Given the description of an element on the screen output the (x, y) to click on. 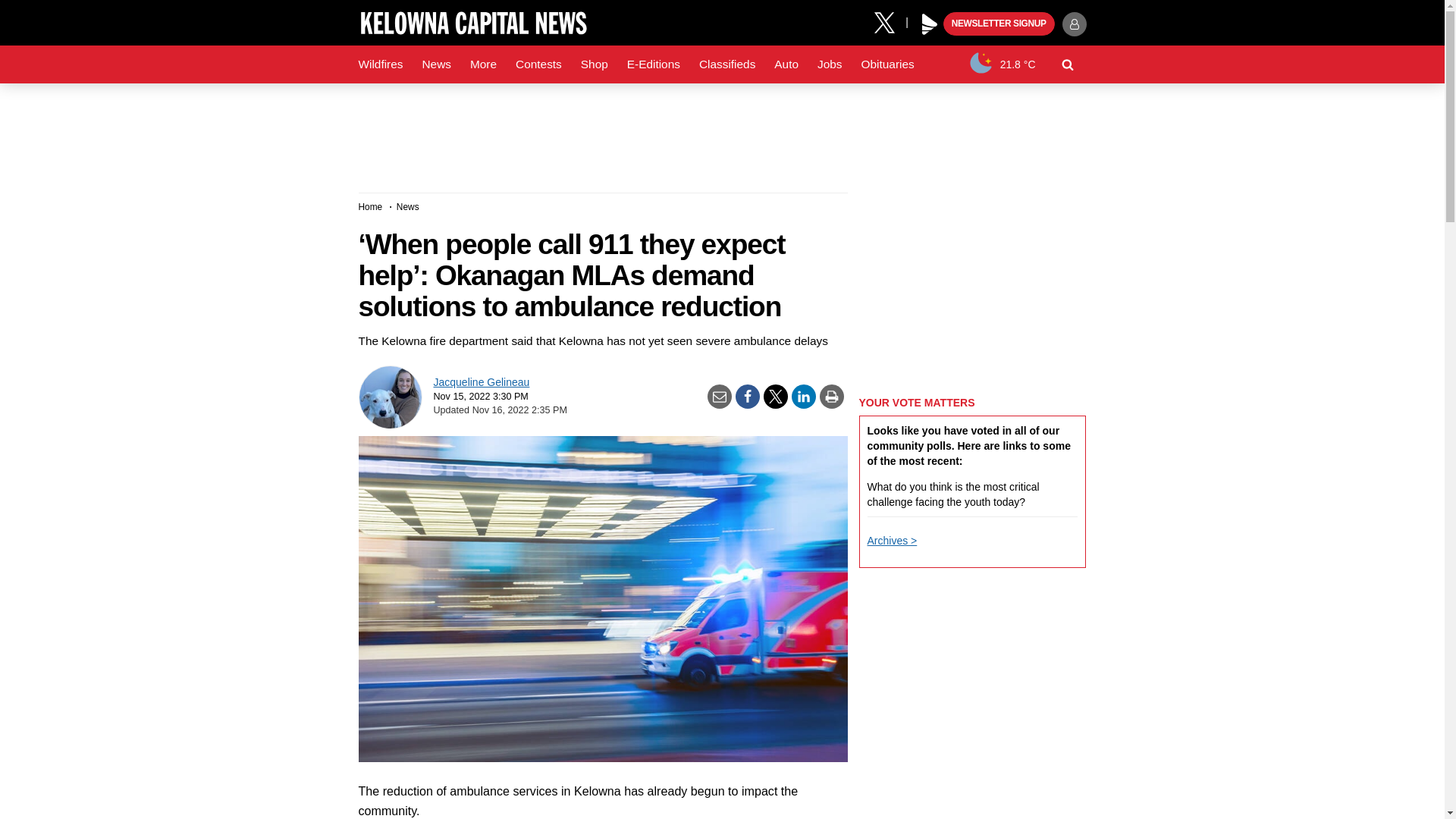
NEWSLETTER SIGNUP (998, 24)
News (435, 64)
Wildfires (380, 64)
Black Press Media (929, 24)
Play (929, 24)
X (889, 21)
